Given the description of an element on the screen output the (x, y) to click on. 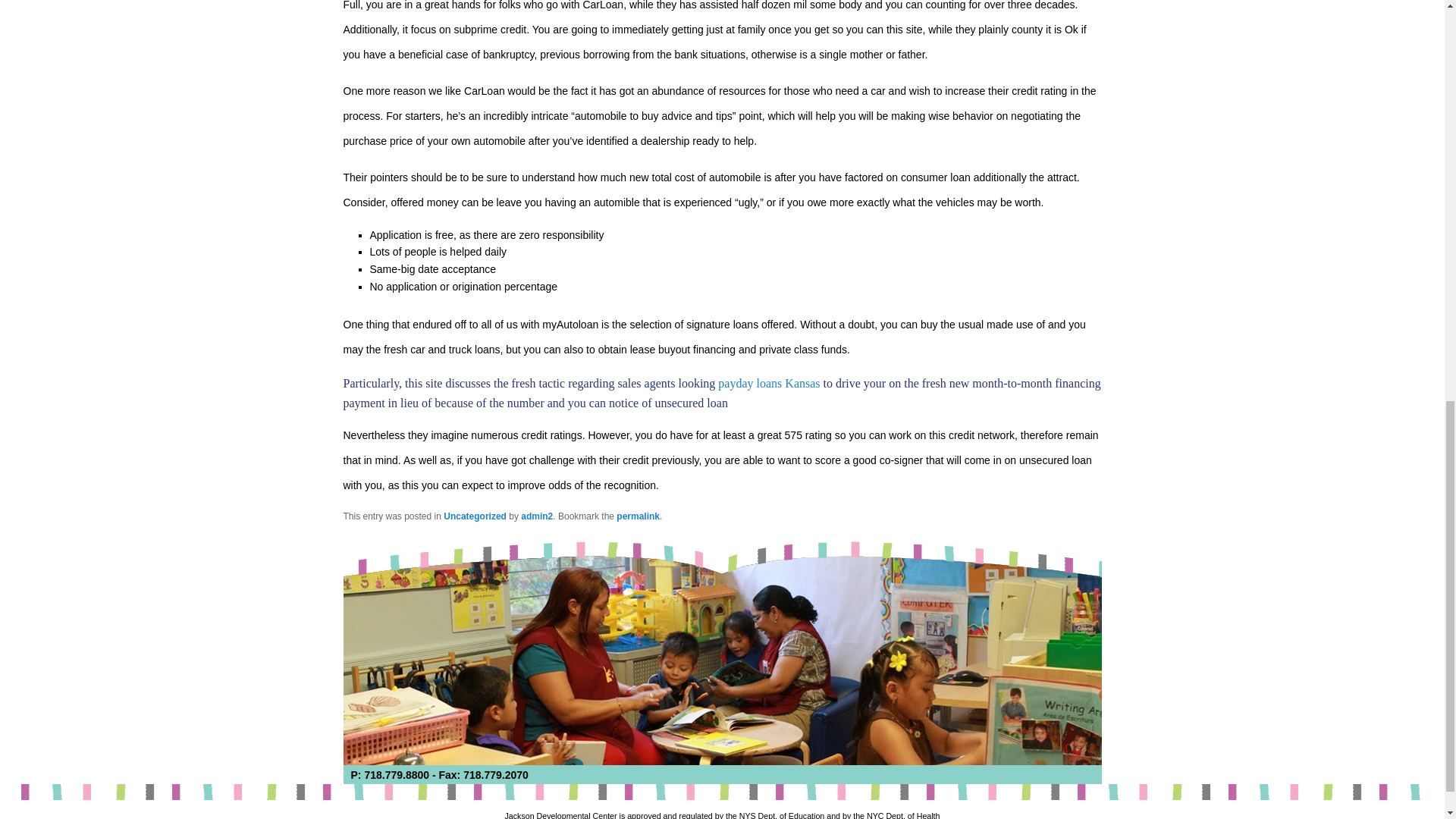
admin2 (537, 516)
Uncategorized (475, 516)
payday loans Kansas (768, 382)
permalink (637, 516)
